Given the description of an element on the screen output the (x, y) to click on. 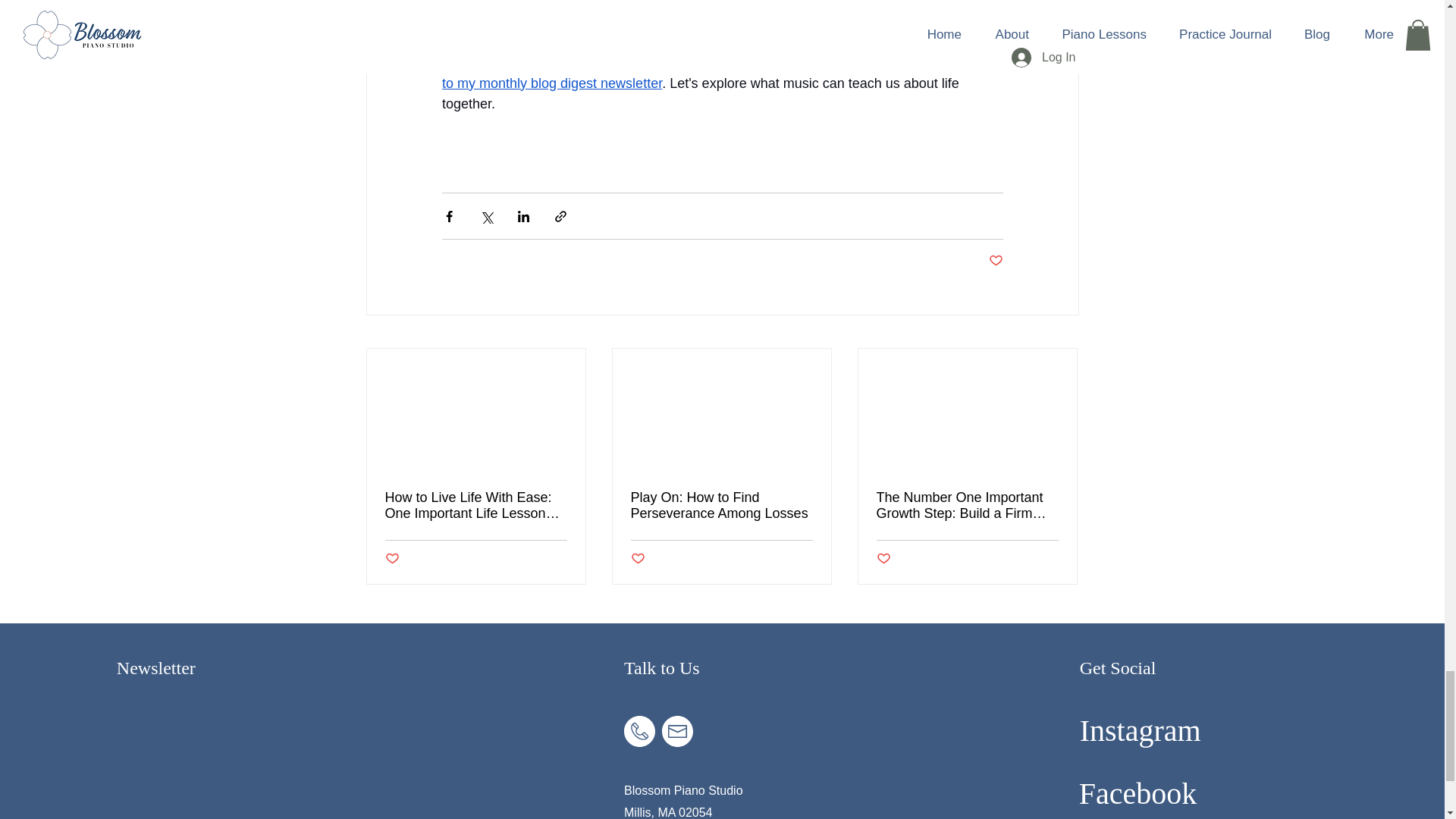
Post not marked as liked (637, 559)
Post not marked as liked (391, 559)
subscribe to my monthly blog digest newsletter (722, 72)
Blossom Piano Studio (683, 789)
Play On: How to Find Perseverance Among Losses (721, 505)
Post not marked as liked (995, 261)
Facebook (1137, 793)
Instagram (1140, 730)
Post not marked as liked (883, 559)
